Given the description of an element on the screen output the (x, y) to click on. 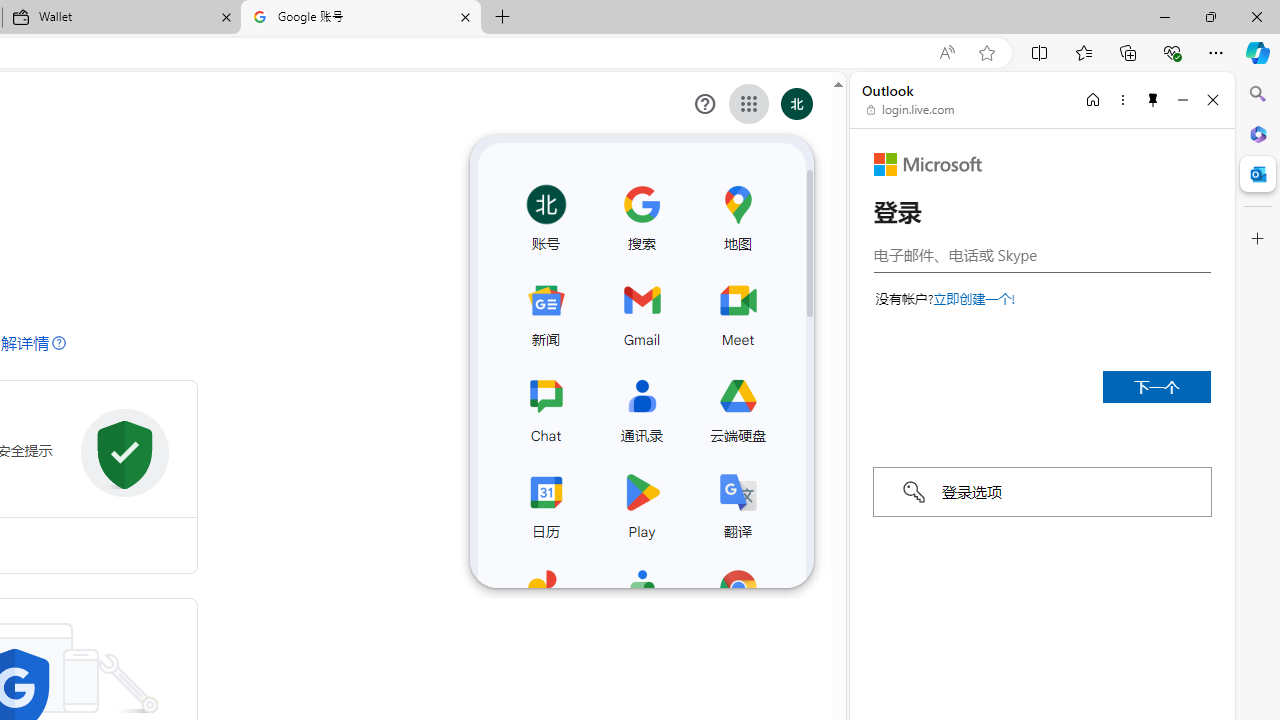
Play (641, 502)
